Given the description of an element on the screen output the (x, y) to click on. 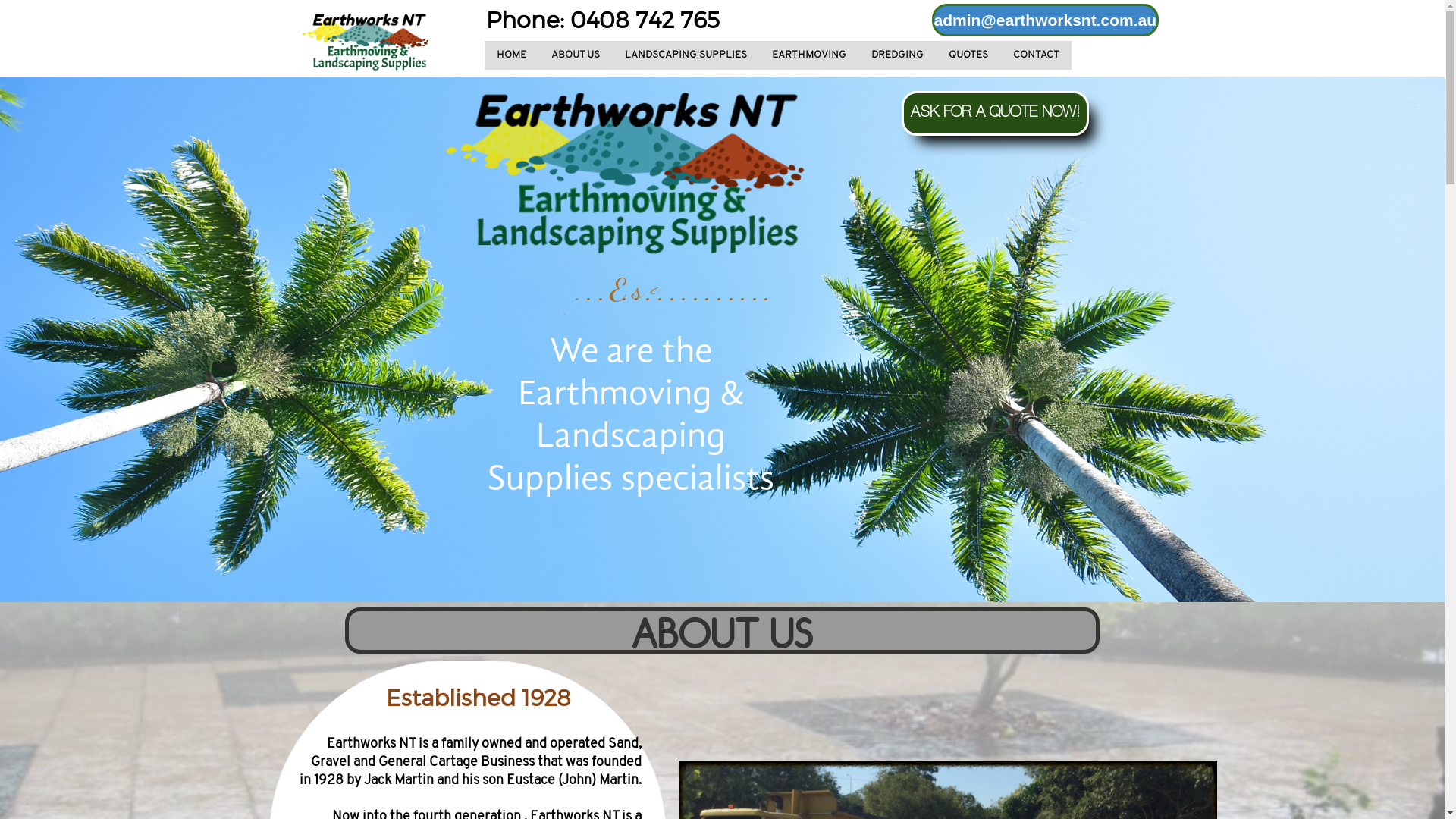
QUOTES Element type: text (967, 54)
LANDSCAPING SUPPLIES Element type: text (685, 54)
EARTHMOVING Element type: text (808, 54)
Image Title Element type: hover (365, 41)
CONTACT Element type: text (1036, 54)
DREDGING Element type: text (896, 54)
Image Title Element type: hover (626, 171)
ASK FOR A QUOTE NOW! Element type: text (994, 113)
ABOUT US Element type: text (574, 54)
admin@earthworksnt.com.au Element type: text (1044, 19)
HOME Element type: text (510, 54)
